Given the description of an element on the screen output the (x, y) to click on. 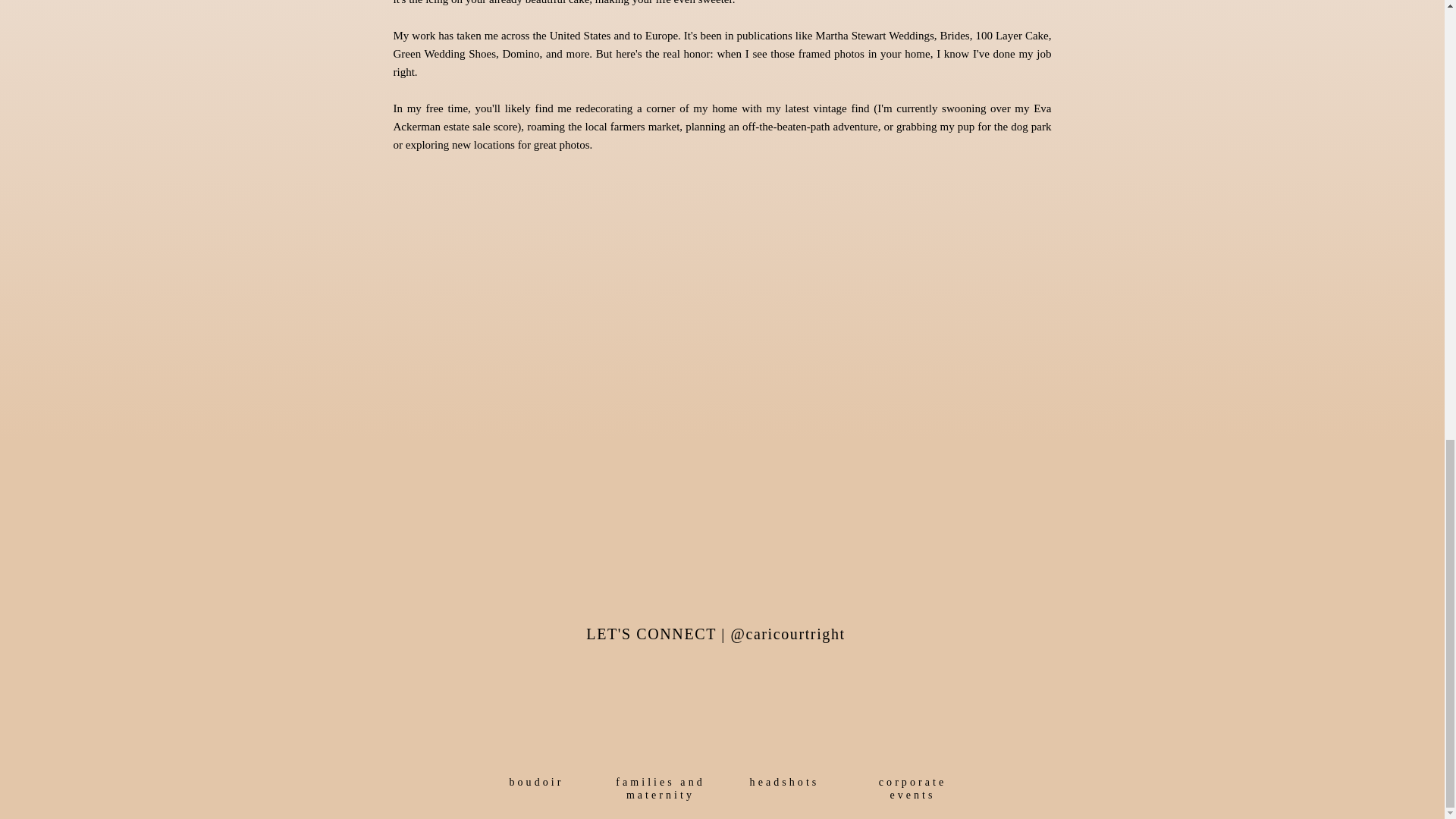
boudoir (536, 783)
headshots (912, 790)
families and maternity (784, 790)
